Given the description of an element on the screen output the (x, y) to click on. 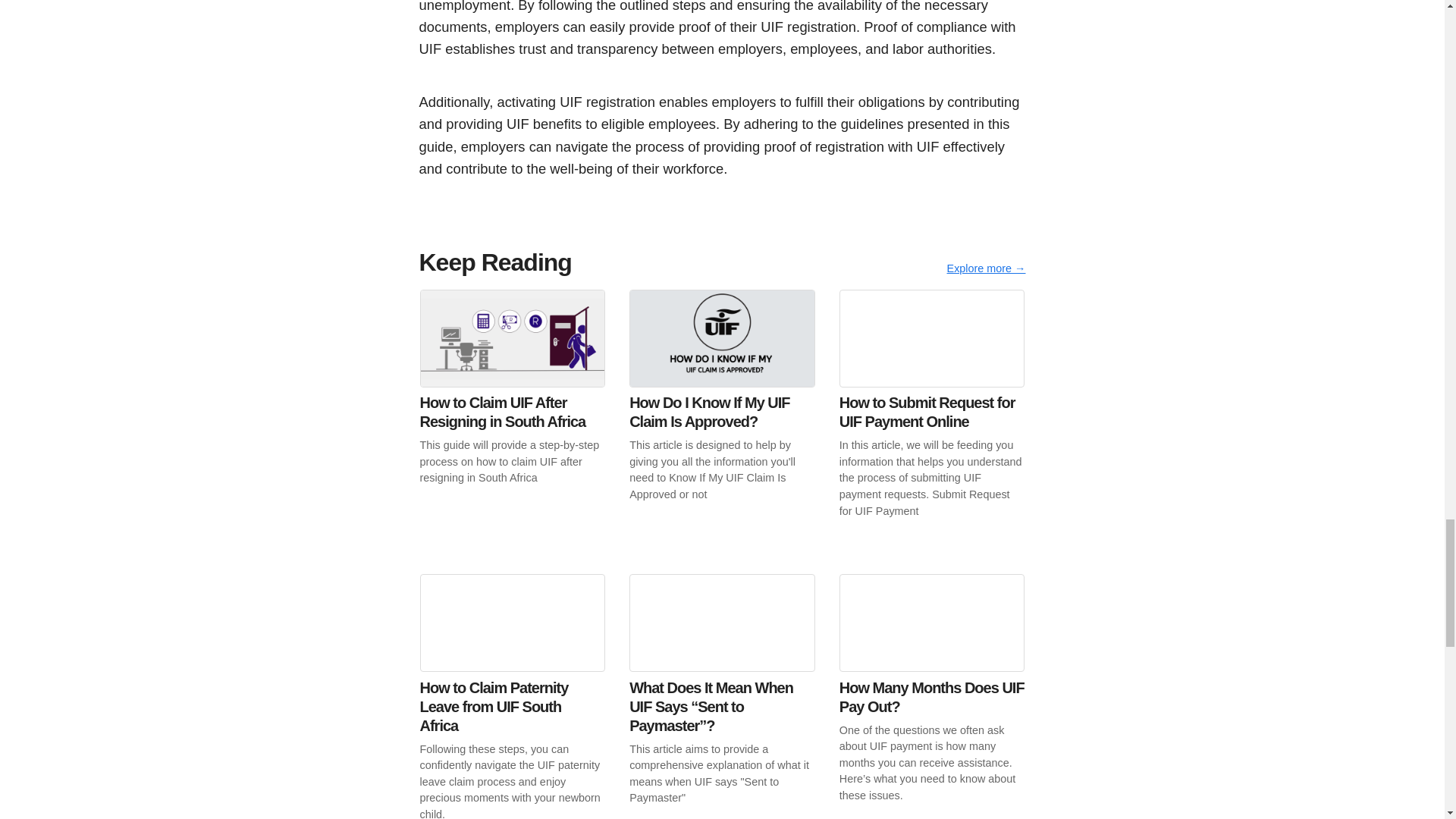
How Many Months Does UIF Pay Out? (932, 696)
How to Claim UIF After Resigning in South Africa (512, 402)
How Do I Know If My UIF Claim Is Approved? (721, 411)
How to Submit Request for UIF Payment Online (932, 419)
